Given the description of an element on the screen output the (x, y) to click on. 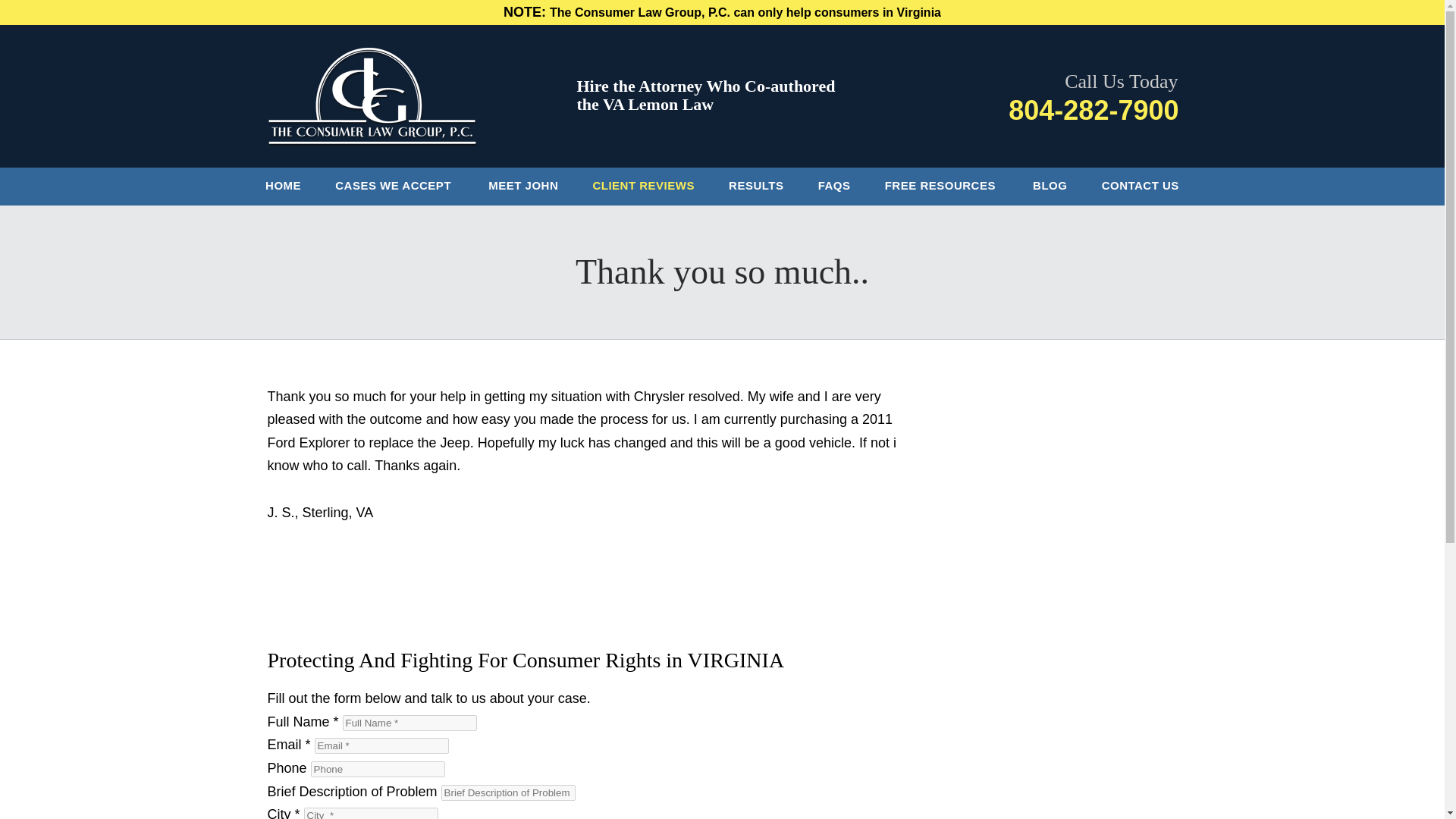
CLIENT REVIEWS (643, 186)
HOME (283, 186)
RESULTS (756, 186)
FAQS (833, 186)
FREE RESOURCES (940, 186)
MEET JOHN (523, 186)
CASES WE ACCEPT (394, 186)
CONTACT US (1139, 186)
BLOG (1050, 186)
